Given the description of an element on the screen output the (x, y) to click on. 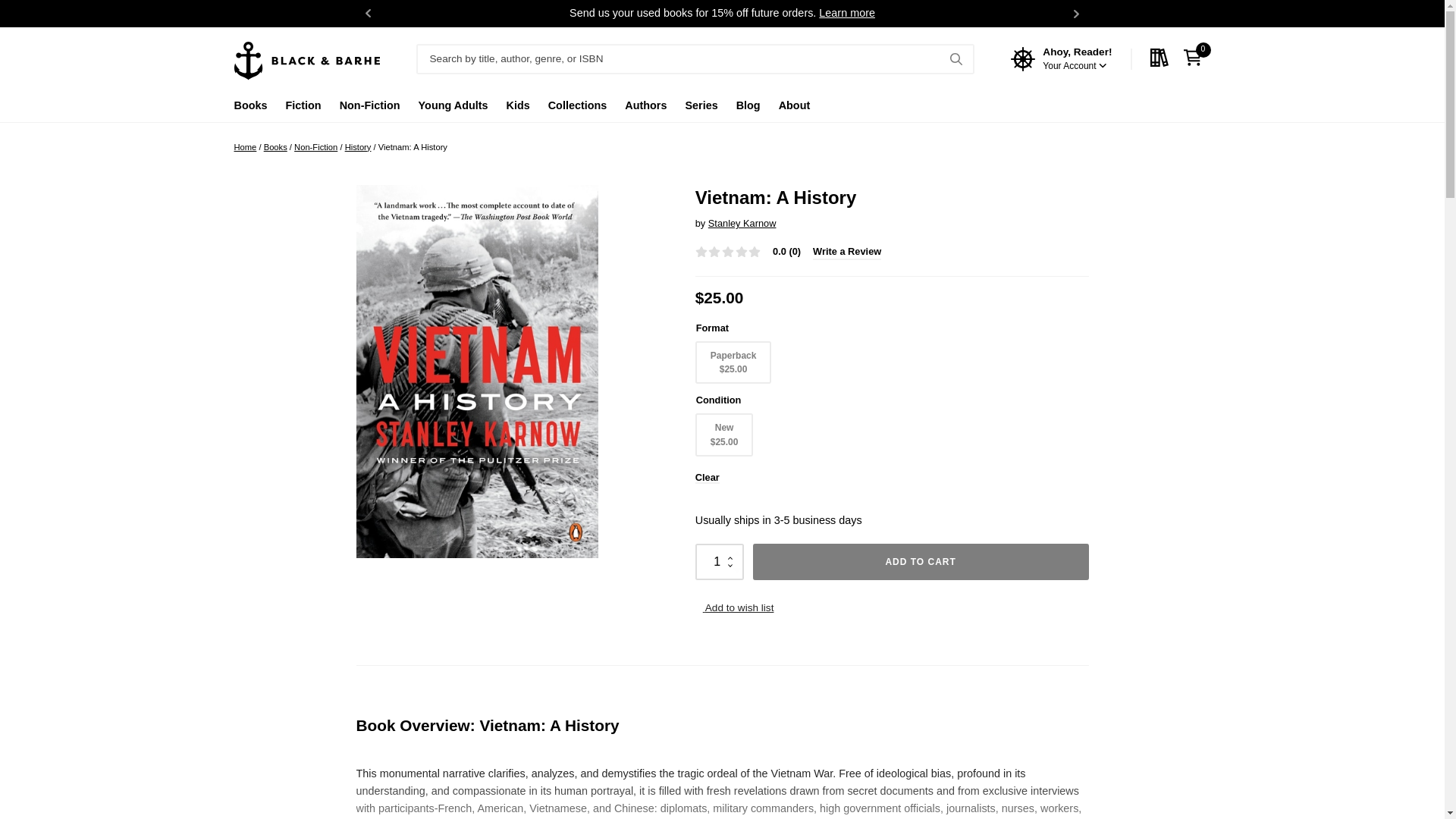
Search for: (694, 59)
Learn more (846, 12)
Books (249, 109)
Fiction (302, 109)
1 (719, 561)
Next (1076, 13)
Prev (368, 13)
0 (1195, 58)
No reviews yet (727, 251)
